Given the description of an element on the screen output the (x, y) to click on. 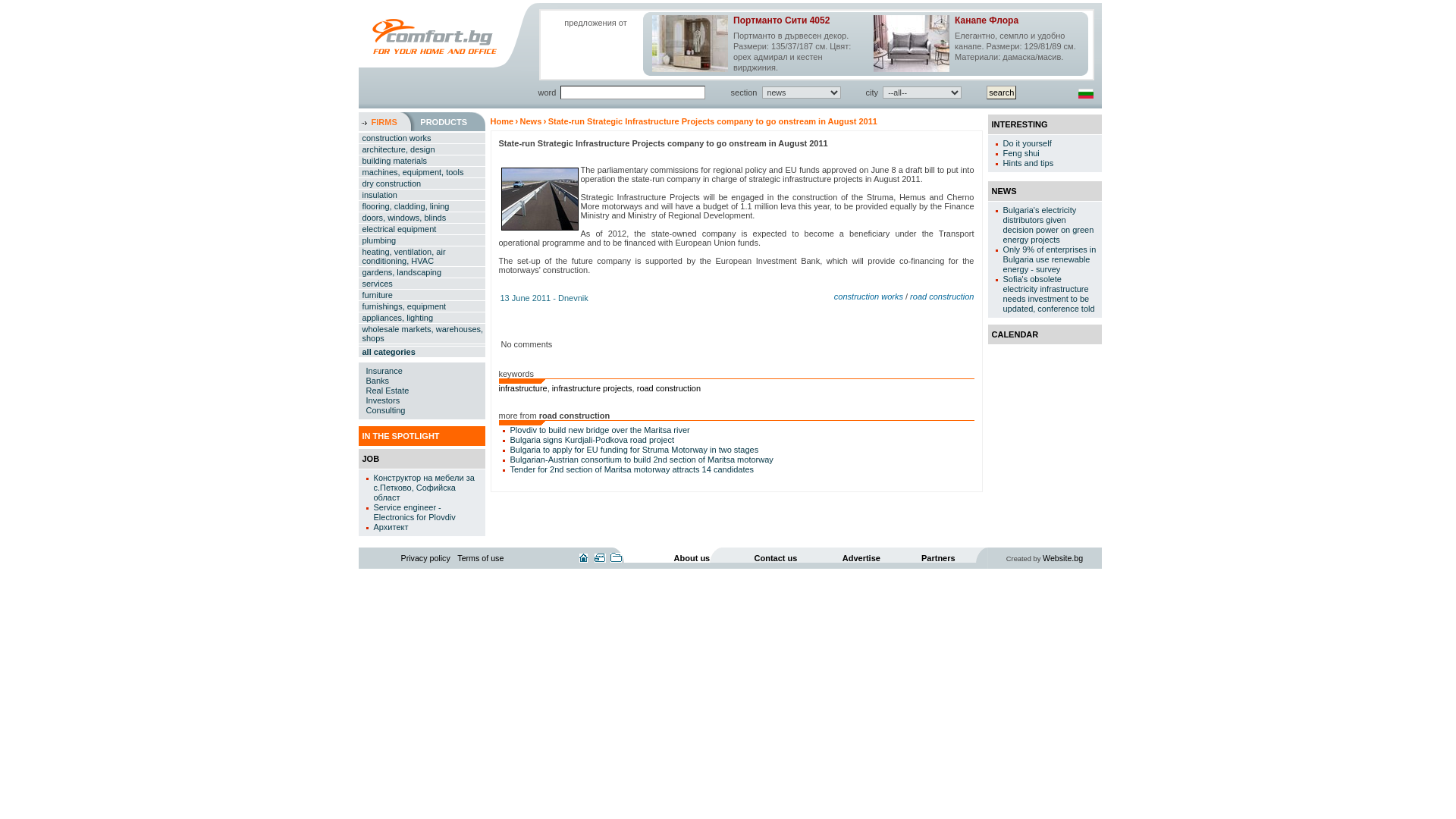
flooring, cladding, lining (421, 206)
Comfort.bg (434, 36)
Real Estate (387, 389)
Banks (376, 379)
firms (383, 121)
search (1001, 92)
all categories (421, 351)
furnishings, equipment (421, 306)
infrastructure (523, 388)
electrical equipment (421, 229)
